Given the description of an element on the screen output the (x, y) to click on. 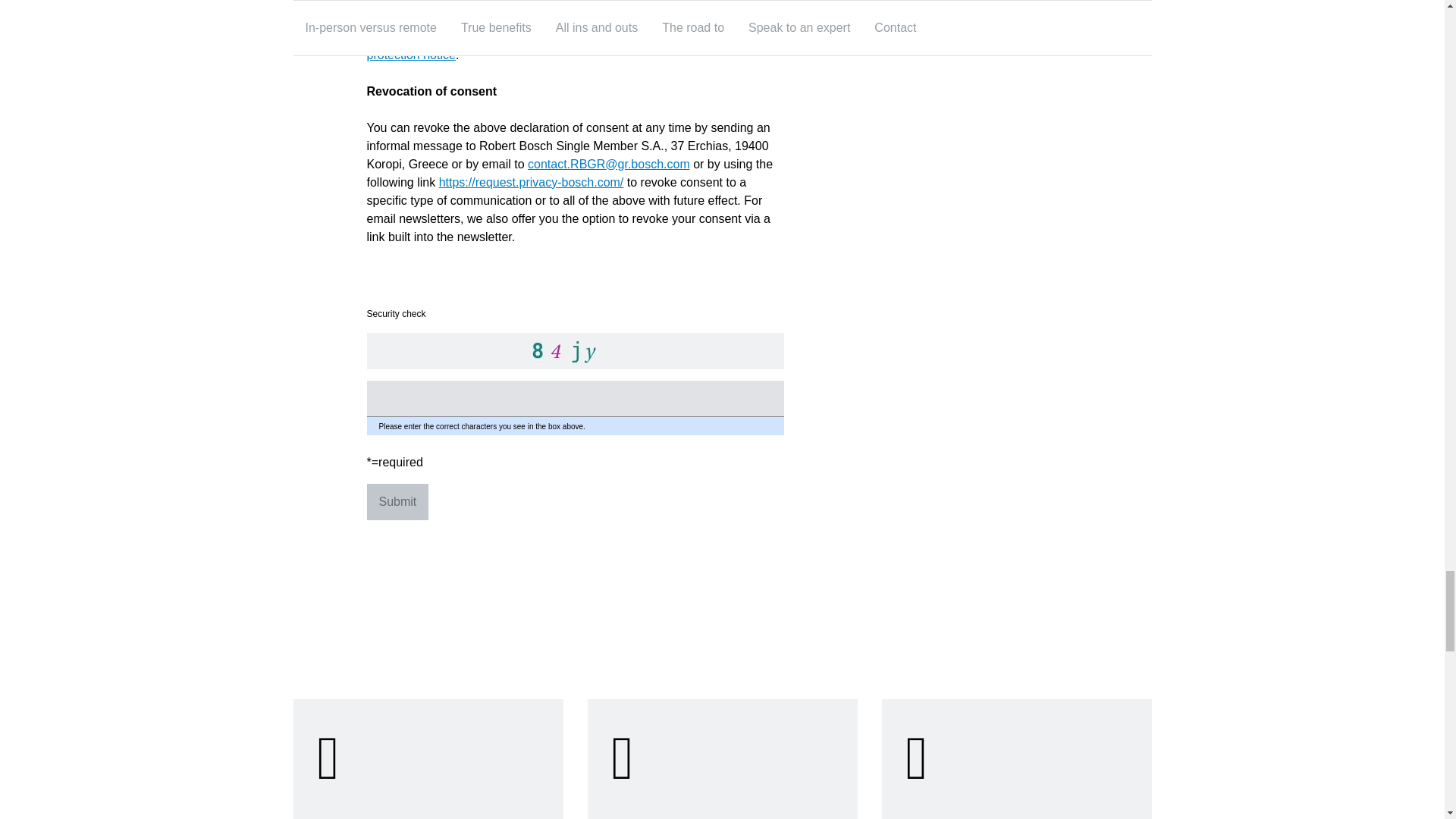
Submit (397, 502)
